Given the description of an element on the screen output the (x, y) to click on. 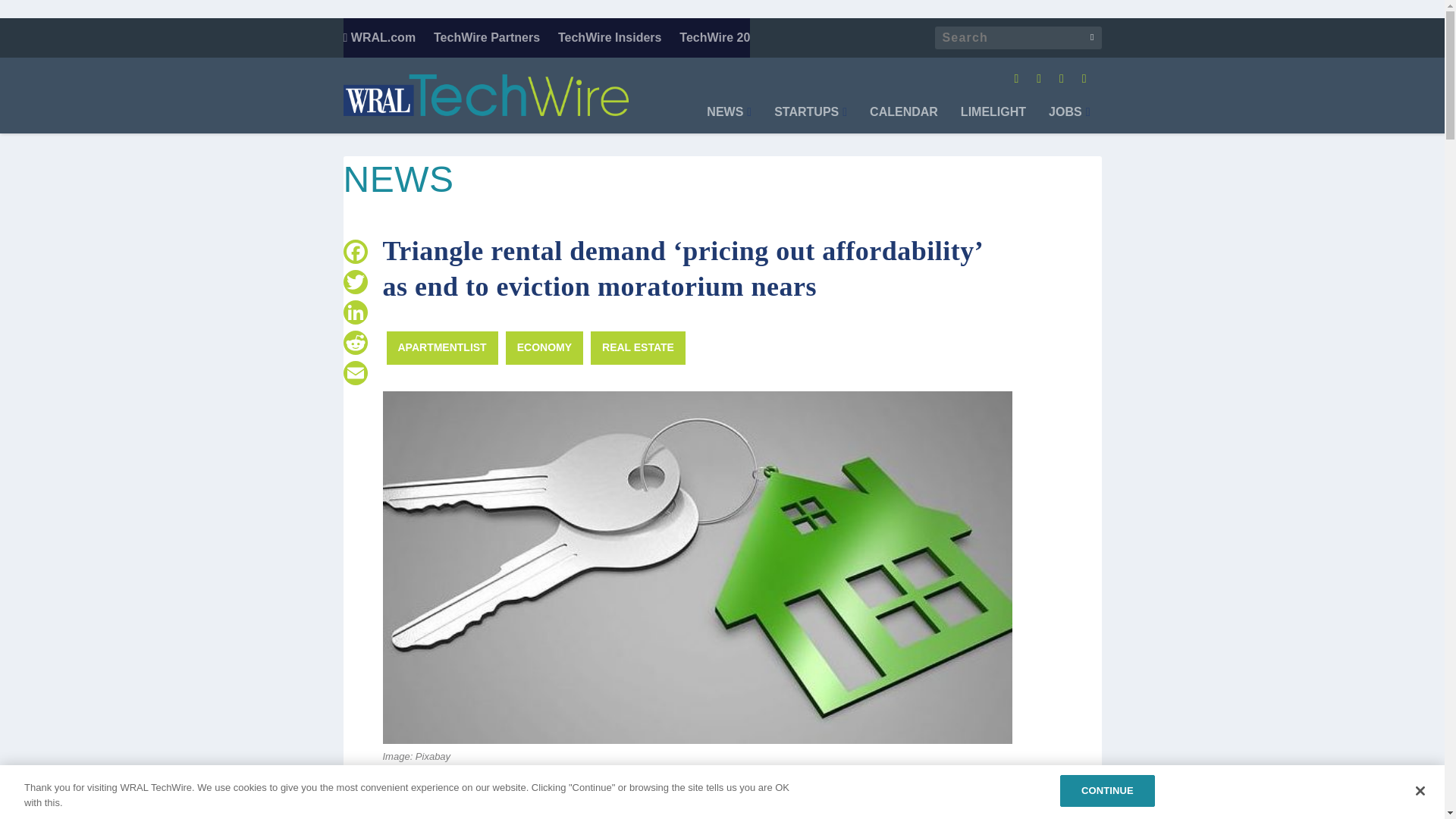
TechWire Insiders (609, 37)
TechWire Partners (486, 37)
JOBS (1068, 119)
Email (354, 372)
STARTUPS (810, 119)
Search for: (1017, 37)
Reddit (354, 342)
LIMELIGHT (993, 119)
LinkedIn (354, 312)
CALENDAR (903, 119)
Twitter (354, 281)
WRAL.com (378, 37)
NEWS (728, 119)
Facebook (354, 251)
TechWire 20 (714, 37)
